Given the description of an element on the screen output the (x, y) to click on. 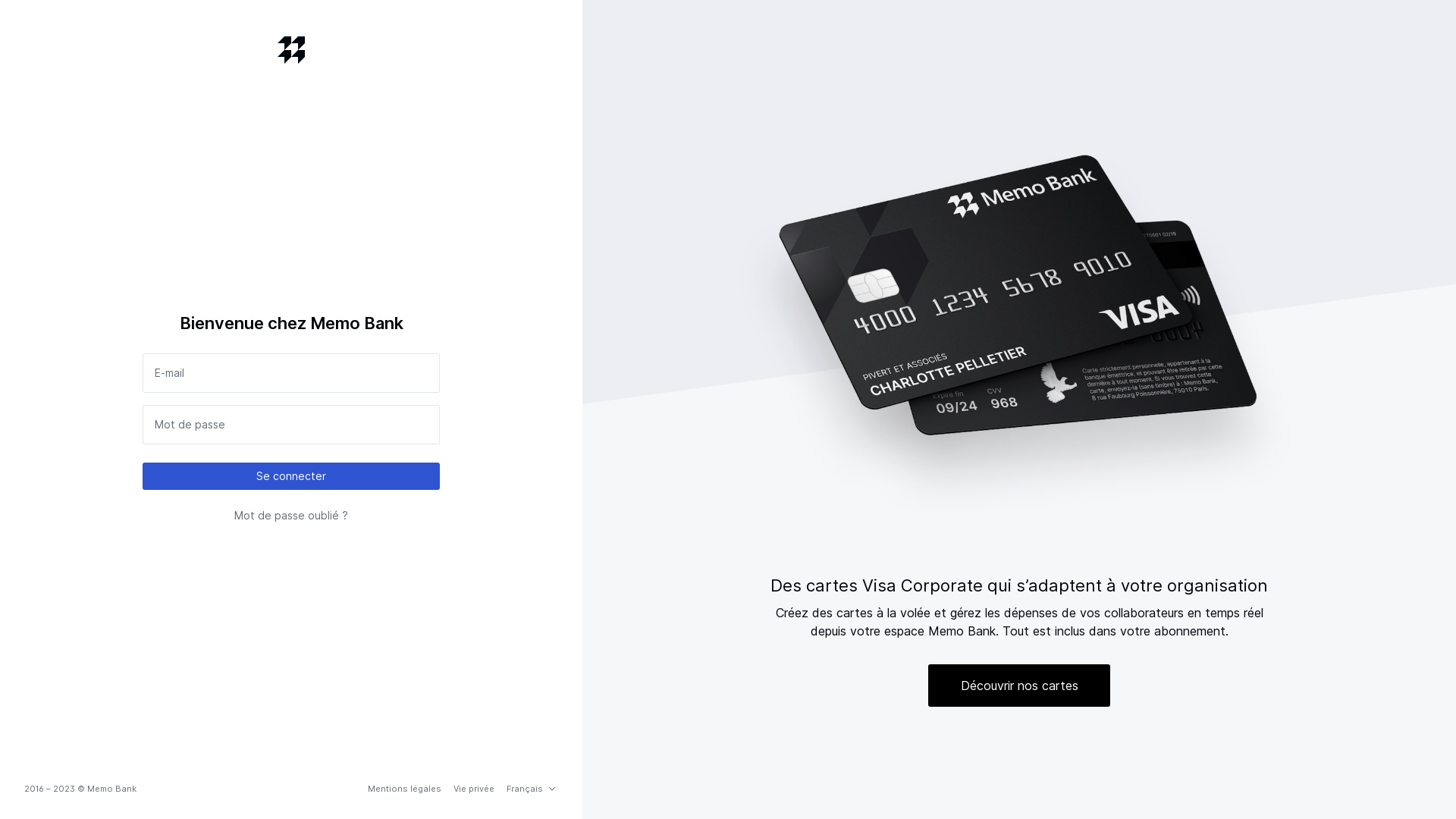
Se connecter Element type: text (290, 475)
